Given the description of an element on the screen output the (x, y) to click on. 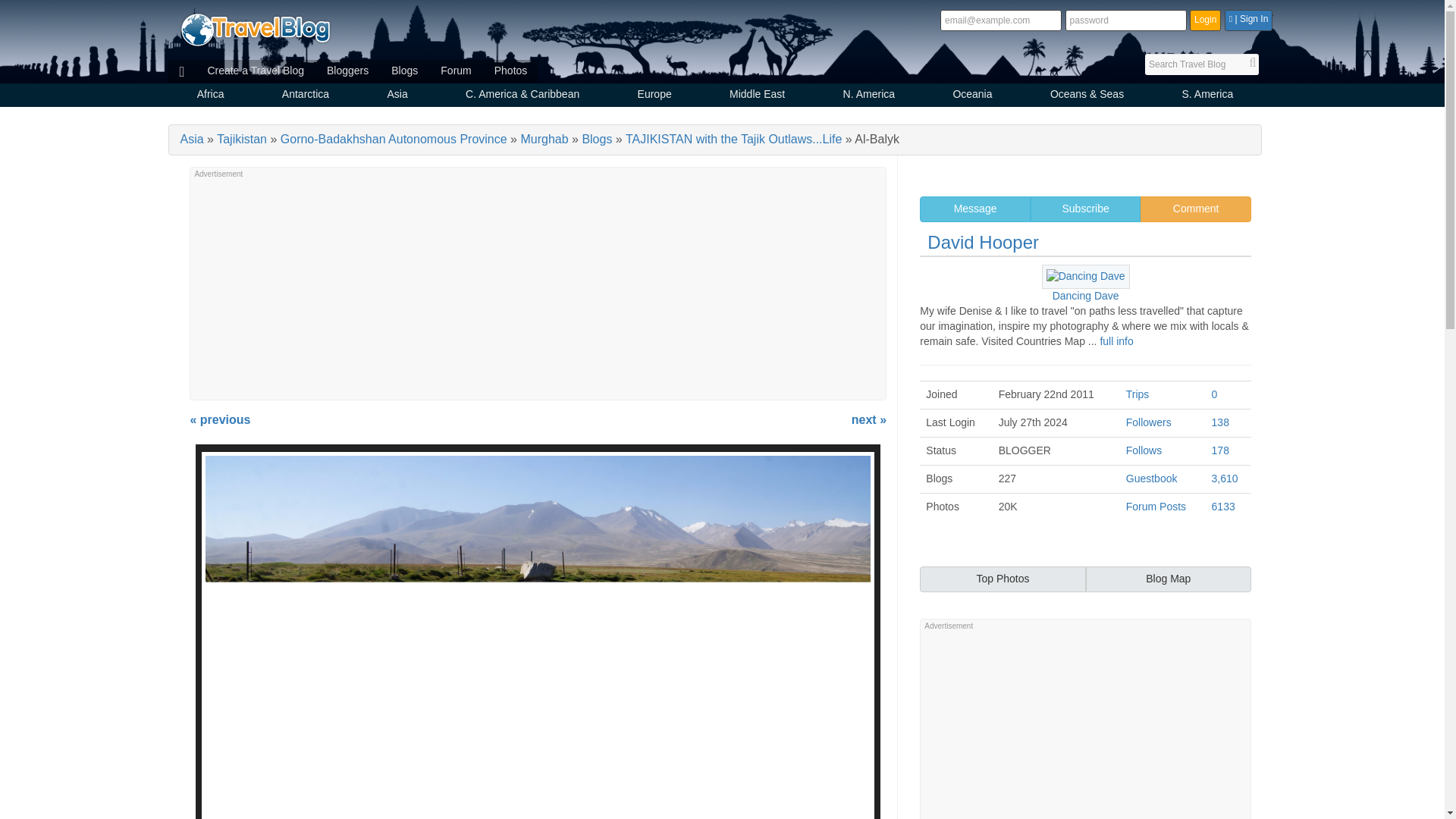
Oceania (972, 95)
Photos (510, 71)
Africa (210, 95)
Create a Travel Blog (255, 71)
Bloggers (347, 71)
Middle East (756, 95)
Antarctica (305, 95)
Forum (455, 71)
Sign in with Facebook (1248, 20)
Login (1205, 20)
Asia (397, 95)
Europe (654, 95)
S. America (1207, 95)
N. America (868, 95)
